Given the description of an element on the screen output the (x, y) to click on. 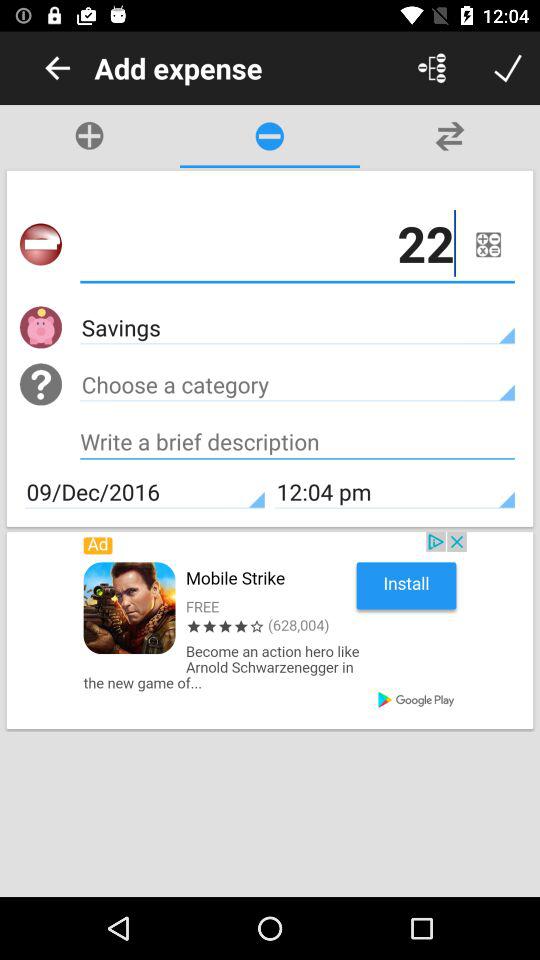
select date (488, 244)
